Given the description of an element on the screen output the (x, y) to click on. 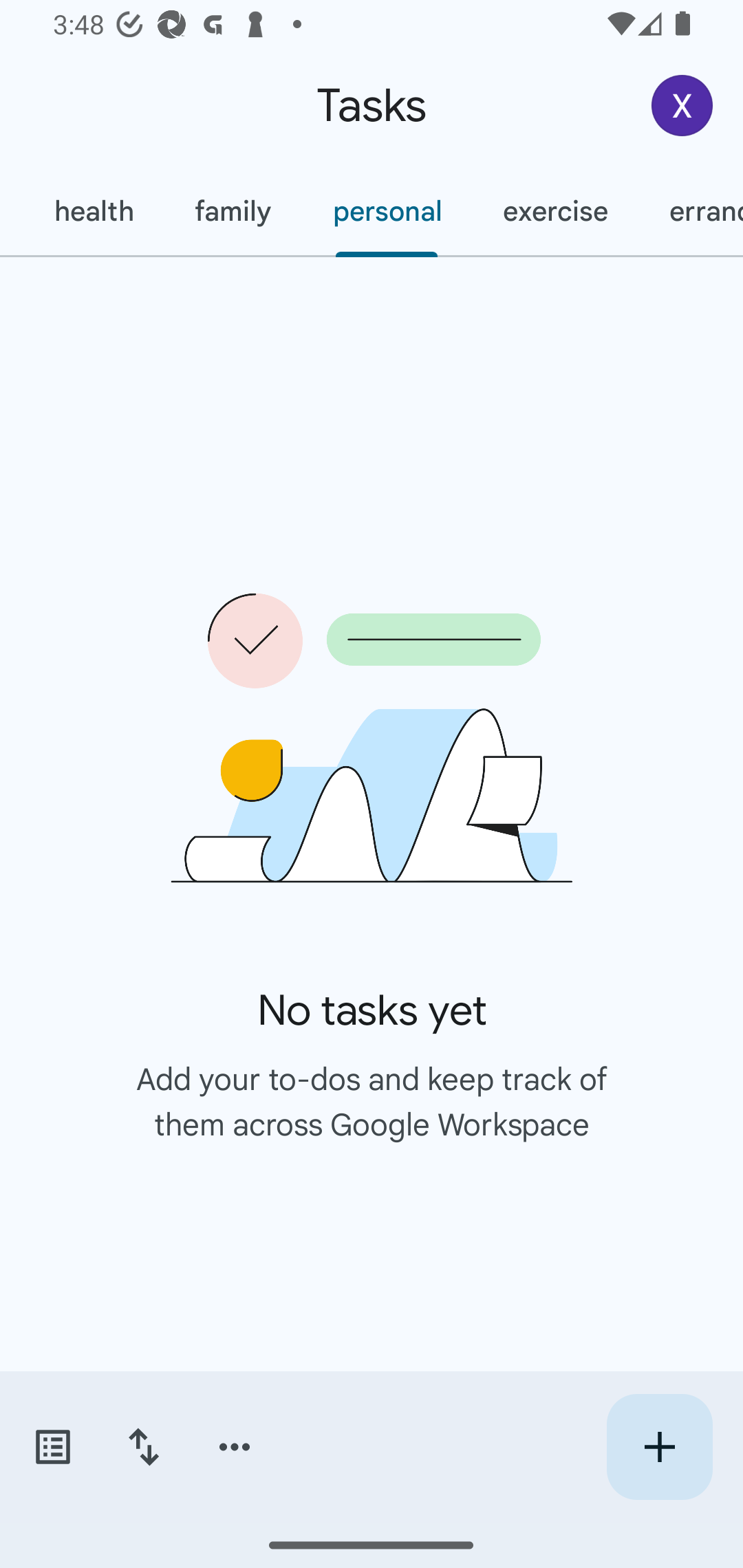
health (93, 211)
family (232, 211)
exercise (554, 211)
errands (690, 211)
Switch task lists (52, 1447)
Create new task (659, 1446)
Change sort order (143, 1446)
More options (234, 1446)
